Given the description of an element on the screen output the (x, y) to click on. 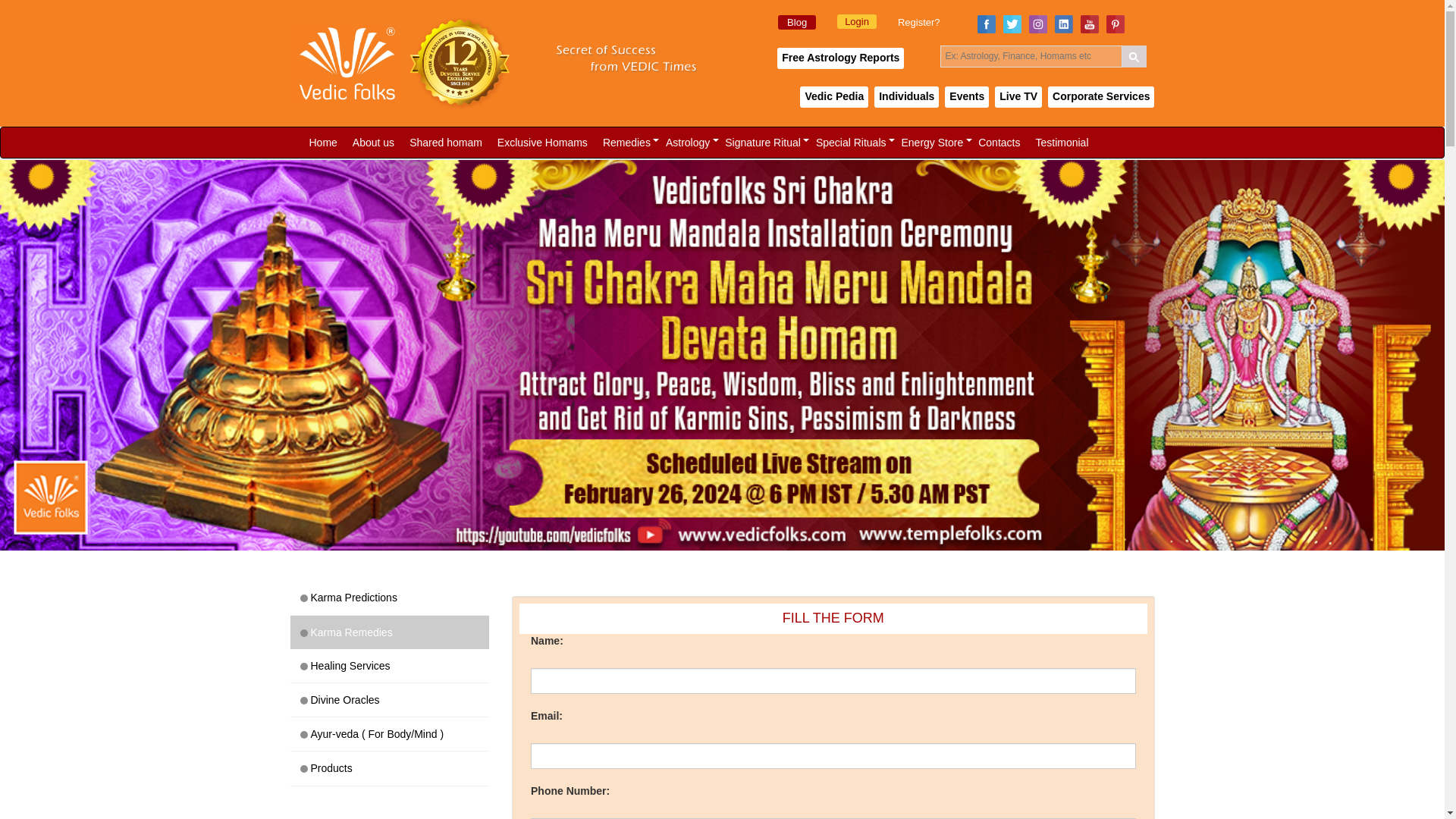
Home (323, 142)
Free Astrology Reports (840, 57)
Corporate Services (1101, 96)
Remedies (626, 142)
Events (966, 96)
About us (373, 142)
Shared homam (445, 142)
Individuals (907, 96)
Blog (796, 22)
Astrology (687, 142)
Live TV (1018, 96)
Exclusive Homams (542, 142)
Signature Ritual (762, 142)
Register? (919, 21)
Login (856, 21)
